Given the description of an element on the screen output the (x, y) to click on. 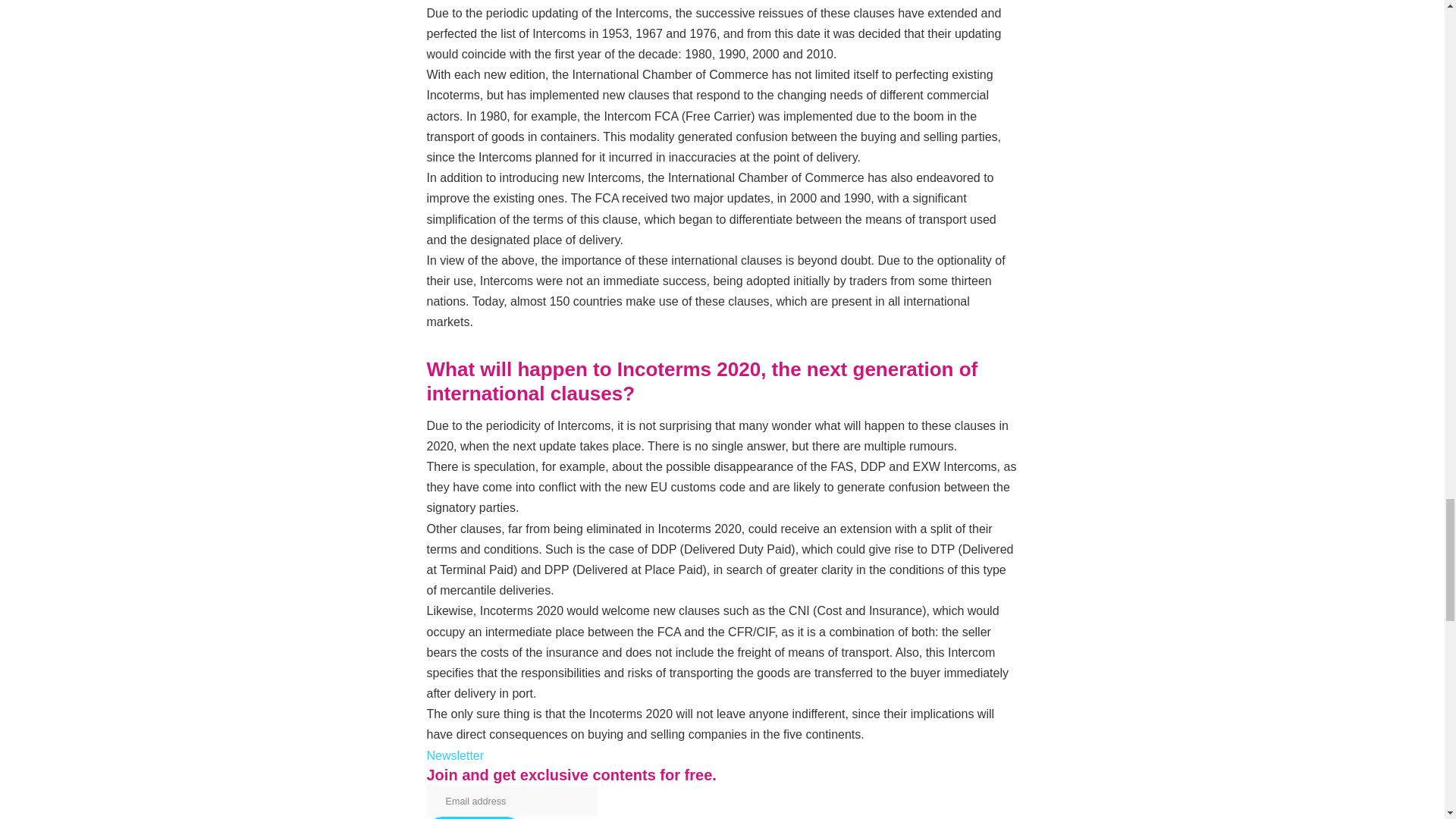
Sign Up (473, 817)
